Given the description of an element on the screen output the (x, y) to click on. 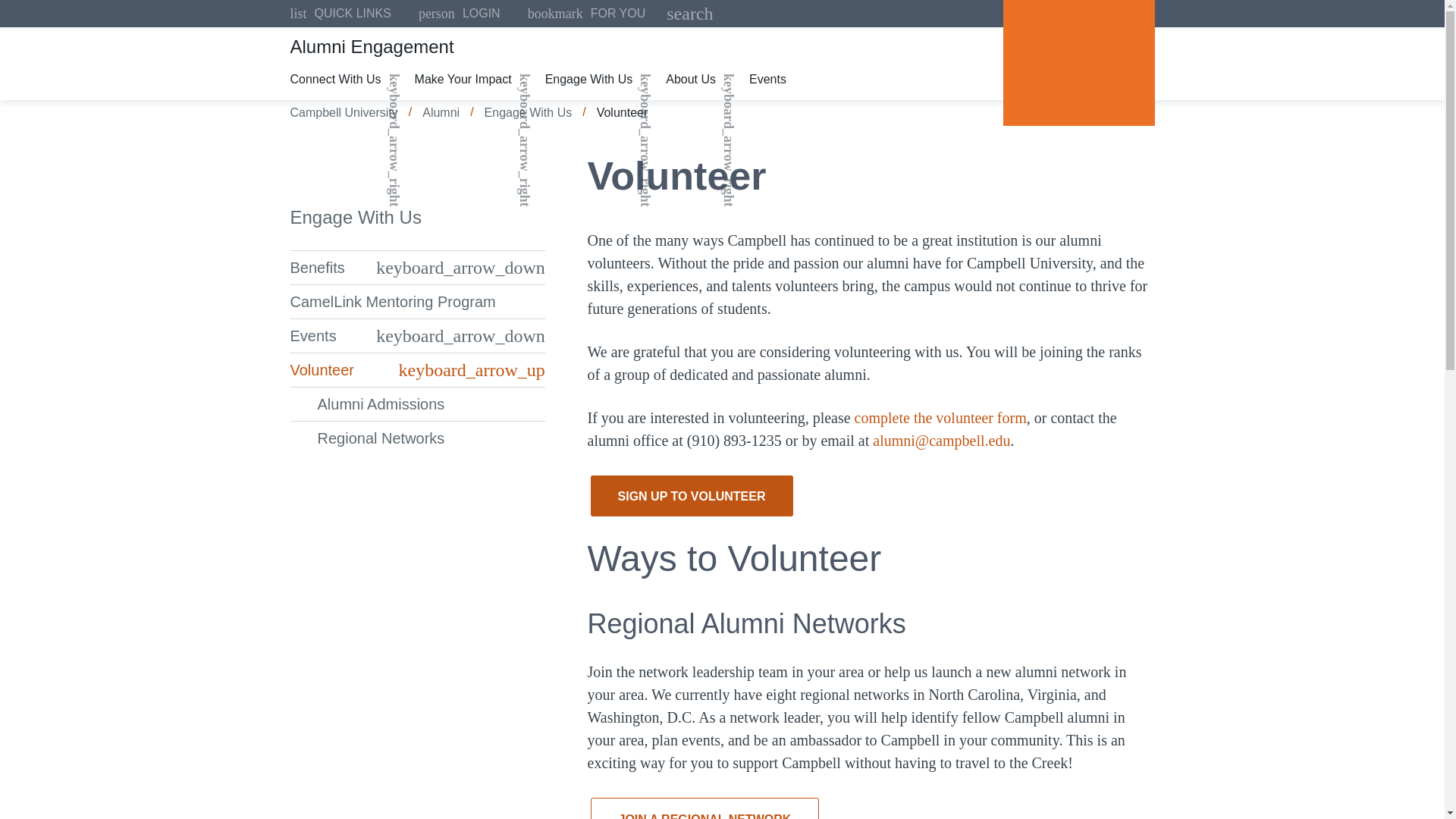
Connect With Us (586, 13)
Connect With Us (338, 78)
Make Your Impact (338, 78)
Alumni Engagement (466, 78)
Campbell University (721, 47)
SEARCH (340, 13)
Make Your Impact (1078, 63)
